Given the description of an element on the screen output the (x, y) to click on. 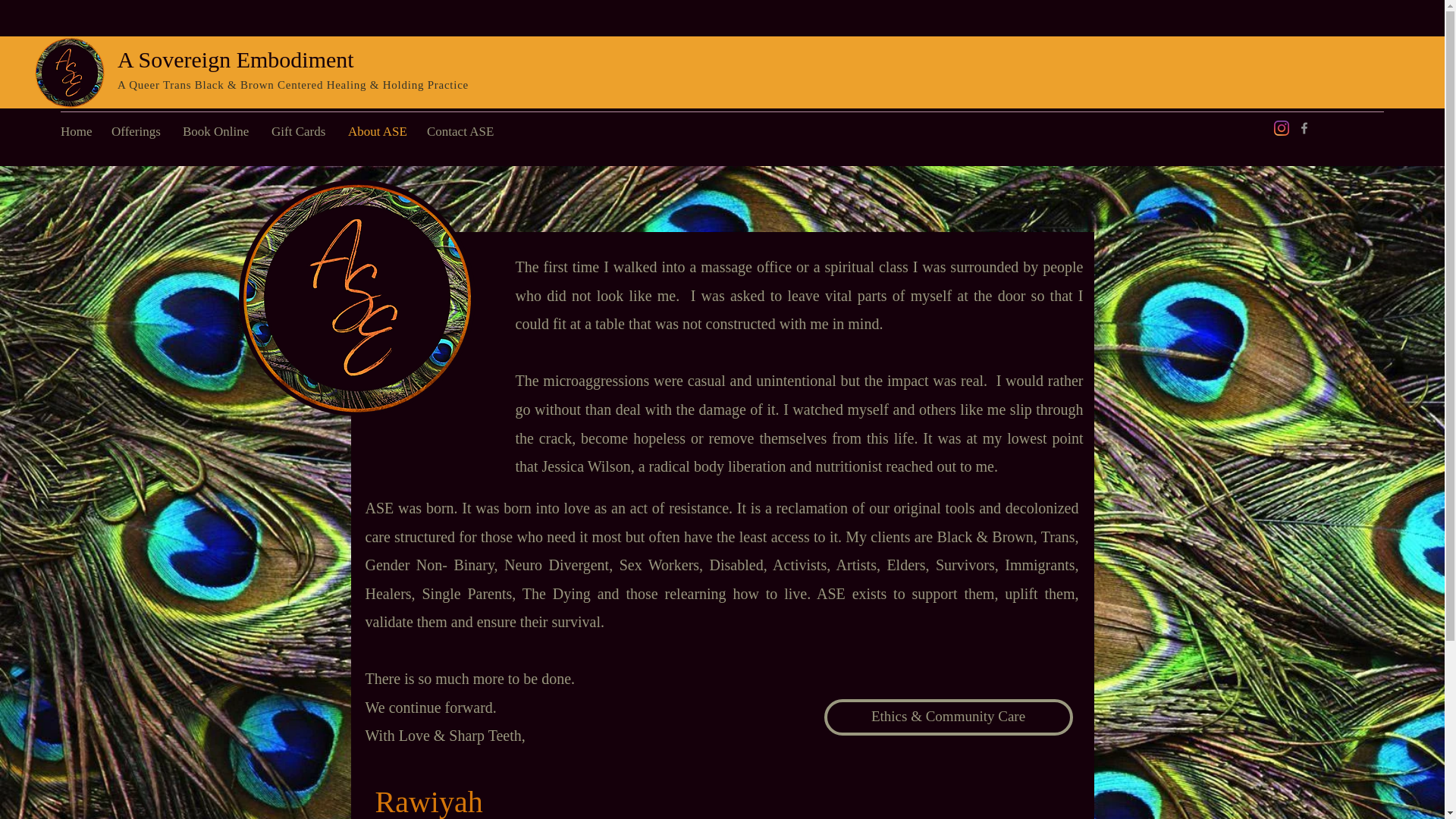
Offerings (138, 131)
Home (77, 131)
Gift Cards (301, 131)
Contact ASE (465, 131)
About ASE (379, 131)
Book Online (218, 131)
A Sovereign Embodiment (235, 59)
